Given the description of an element on the screen output the (x, y) to click on. 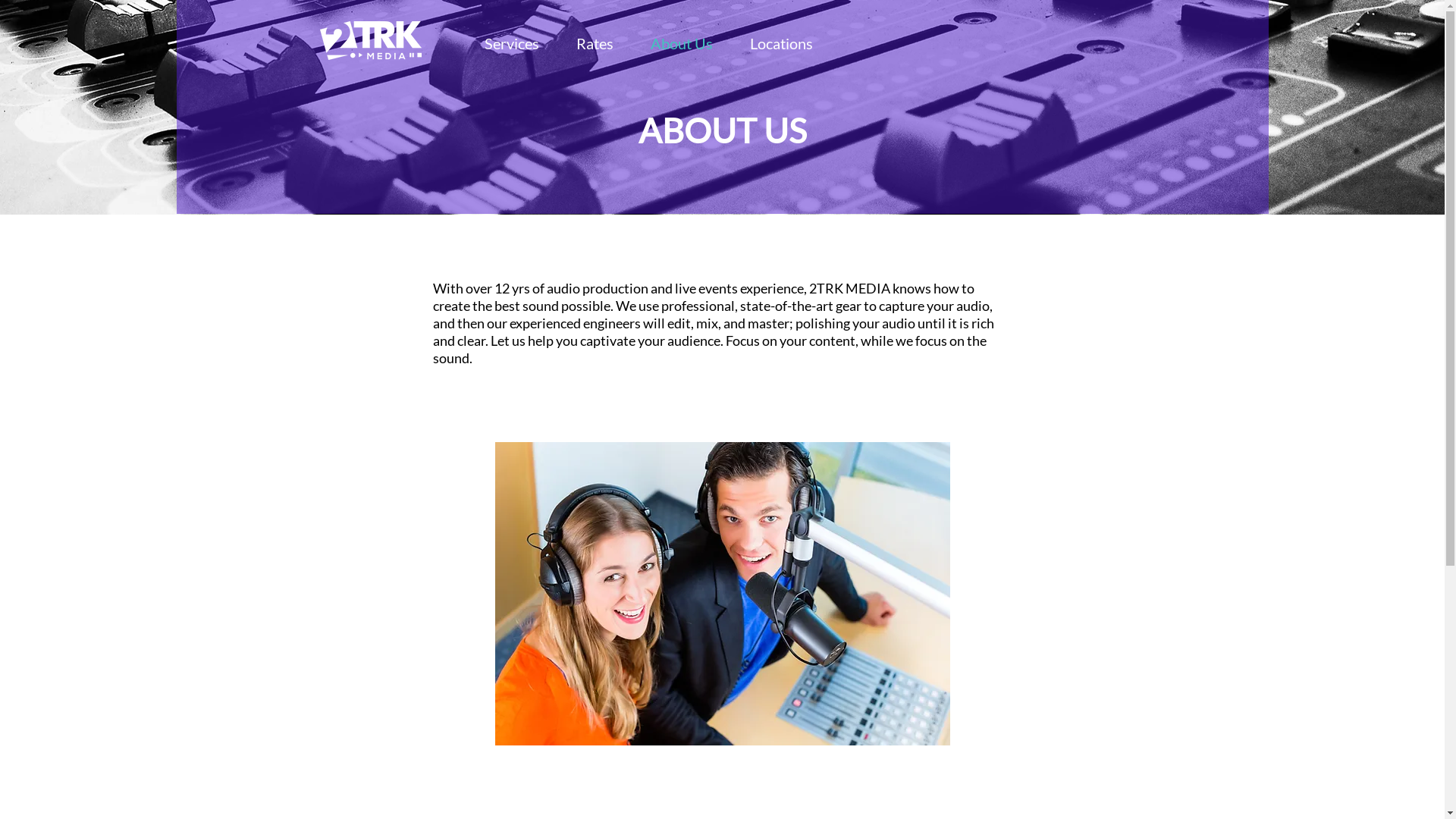
About Us Element type: text (681, 42)
Locations Element type: text (781, 42)
Services Element type: text (511, 42)
Rates Element type: text (595, 42)
